Given the description of an element on the screen output the (x, y) to click on. 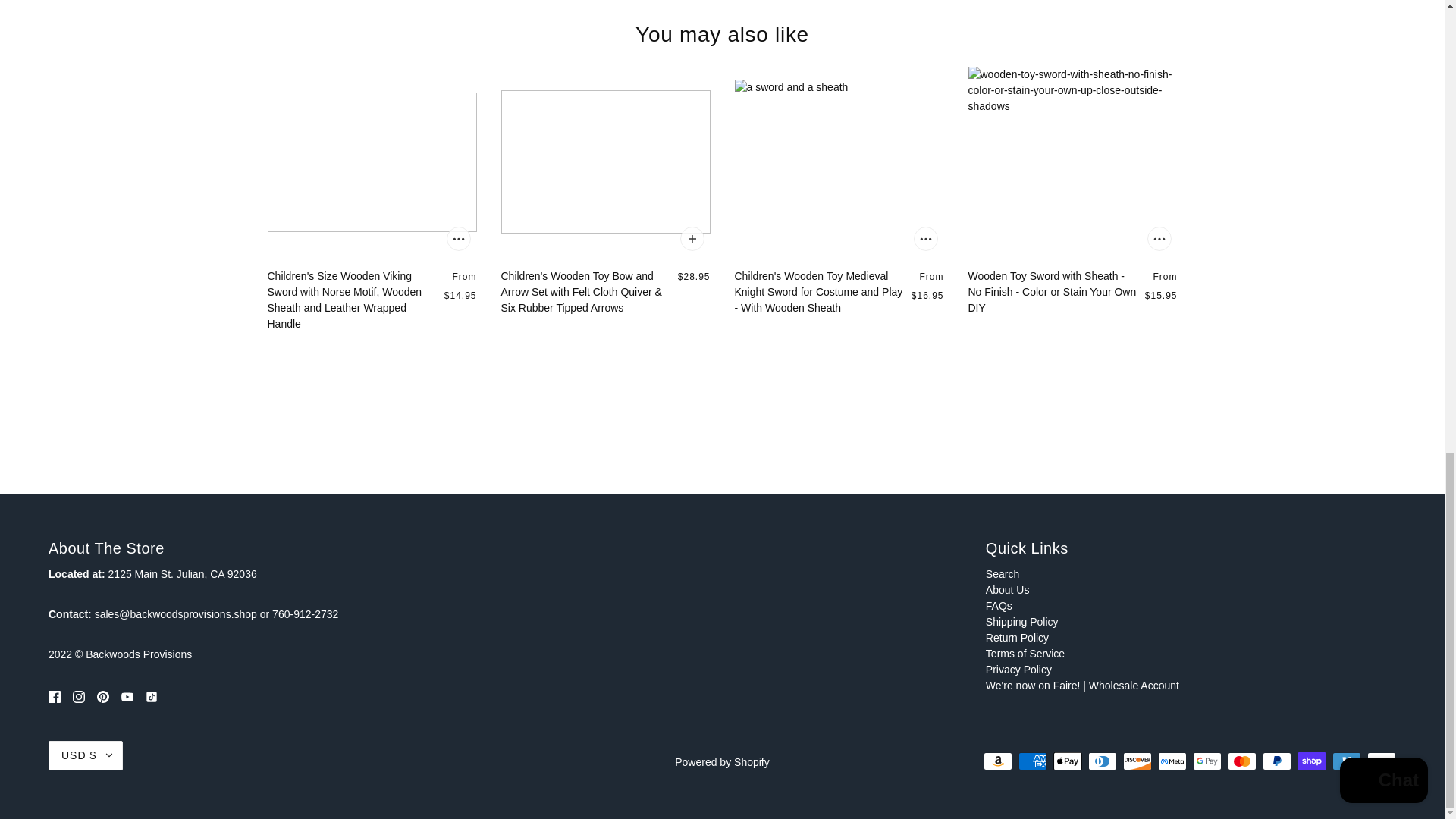
Privacy Policy (1018, 669)
FAQs (998, 605)
Search (1002, 573)
Shipping Policy (1021, 621)
Terms of Service (1024, 653)
American Express (1031, 761)
Return Policy (1016, 637)
About Us (1007, 589)
Apple Pay (1066, 761)
Amazon (997, 761)
